Given the description of an element on the screen output the (x, y) to click on. 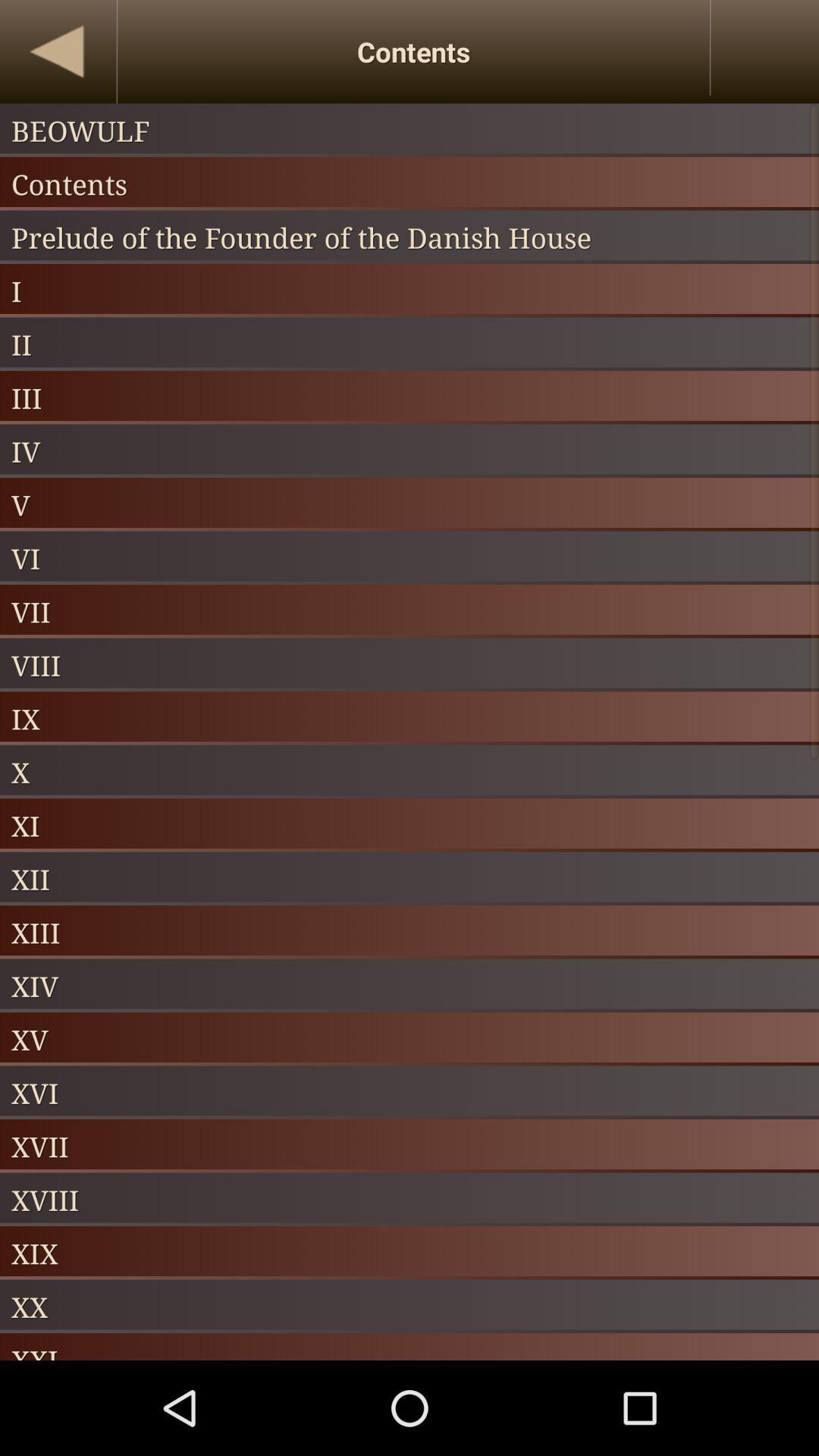
launch item to the left of the contents item (58, 51)
